Given the description of an element on the screen output the (x, y) to click on. 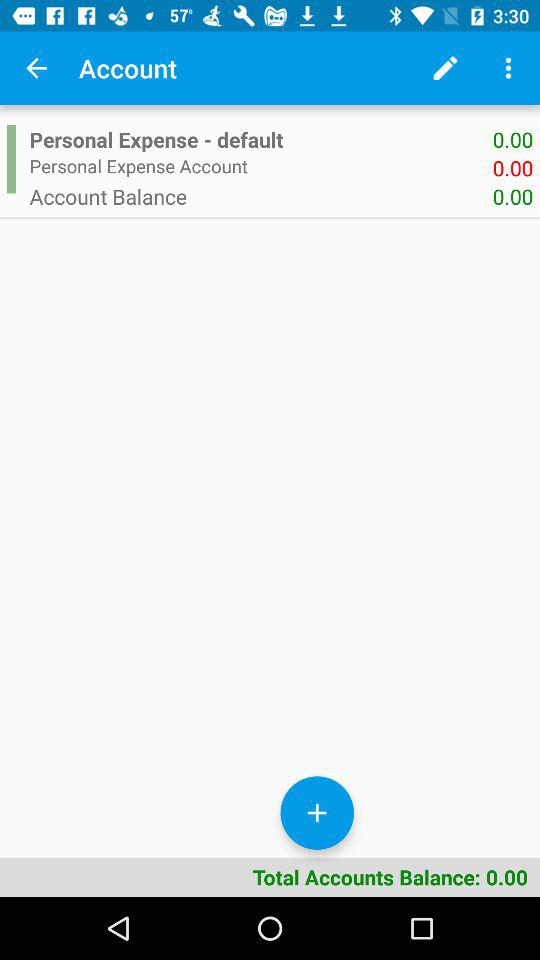
click the app to the right of account item (444, 67)
